Given the description of an element on the screen output the (x, y) to click on. 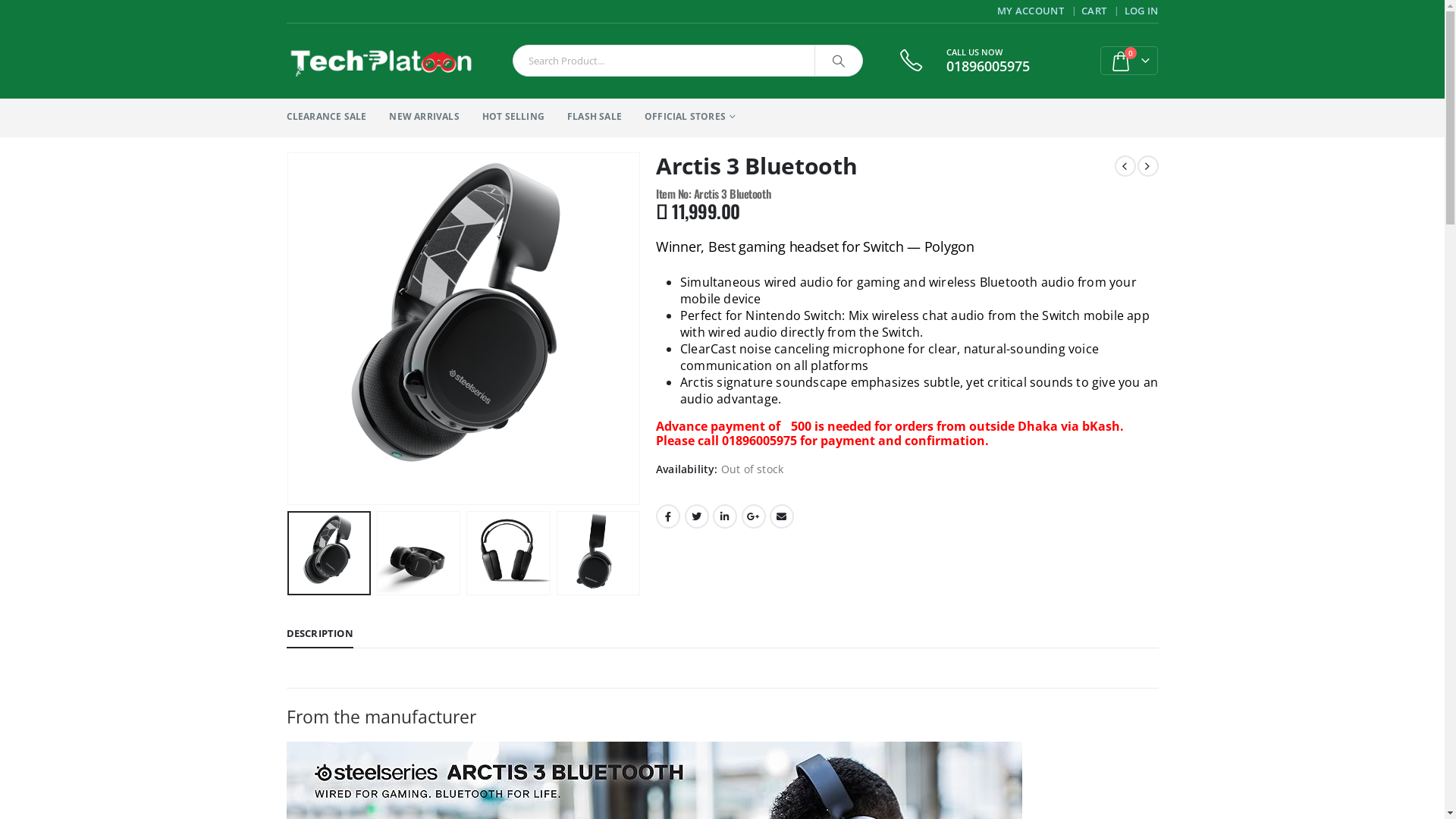
Search Element type: hover (838, 60)
Google + Element type: text (753, 516)
CLEARANCE SALE Element type: text (326, 117)
Email Element type: text (781, 516)
NEW ARRIVALS Element type: text (423, 117)
Arctis 3 Bluetooth 800X800 Element type: hover (464, 329)
HOT SELLING Element type: text (513, 117)
Facebook Element type: text (667, 516)
OFFICIAL STORES Element type: text (689, 117)
LinkedIn Element type: text (724, 516)
MY ACCOUNT Element type: text (1032, 11)
CART Element type: text (1095, 11)
FLASH SALE Element type: text (594, 117)
Twitter Element type: text (696, 516)
LOG IN Element type: text (1140, 11)
